Given the description of an element on the screen output the (x, y) to click on. 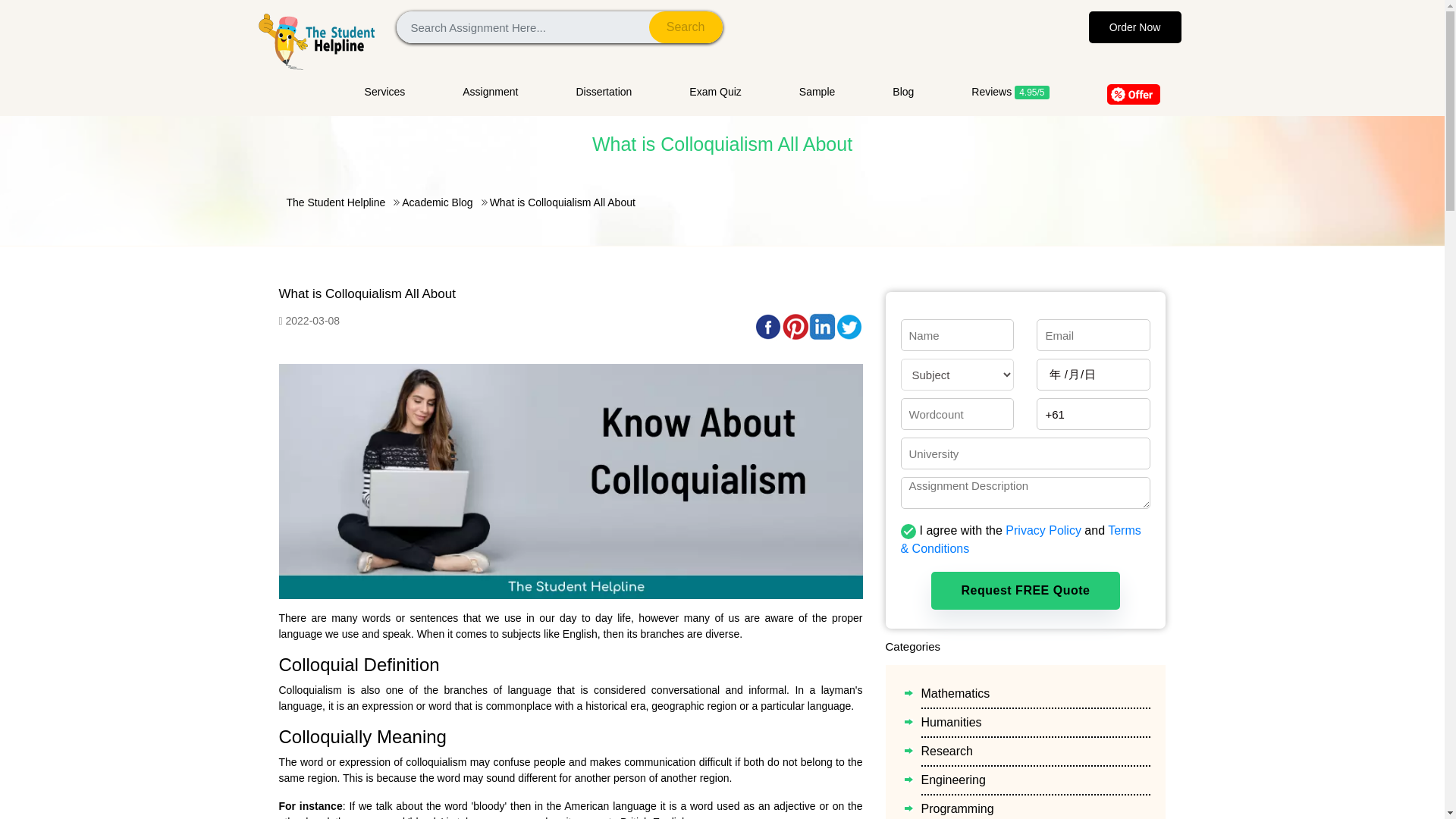
Assignment (490, 91)
Services (399, 91)
Search (685, 27)
Order Now (1134, 27)
Dissertation (604, 91)
